Given the description of an element on the screen output the (x, y) to click on. 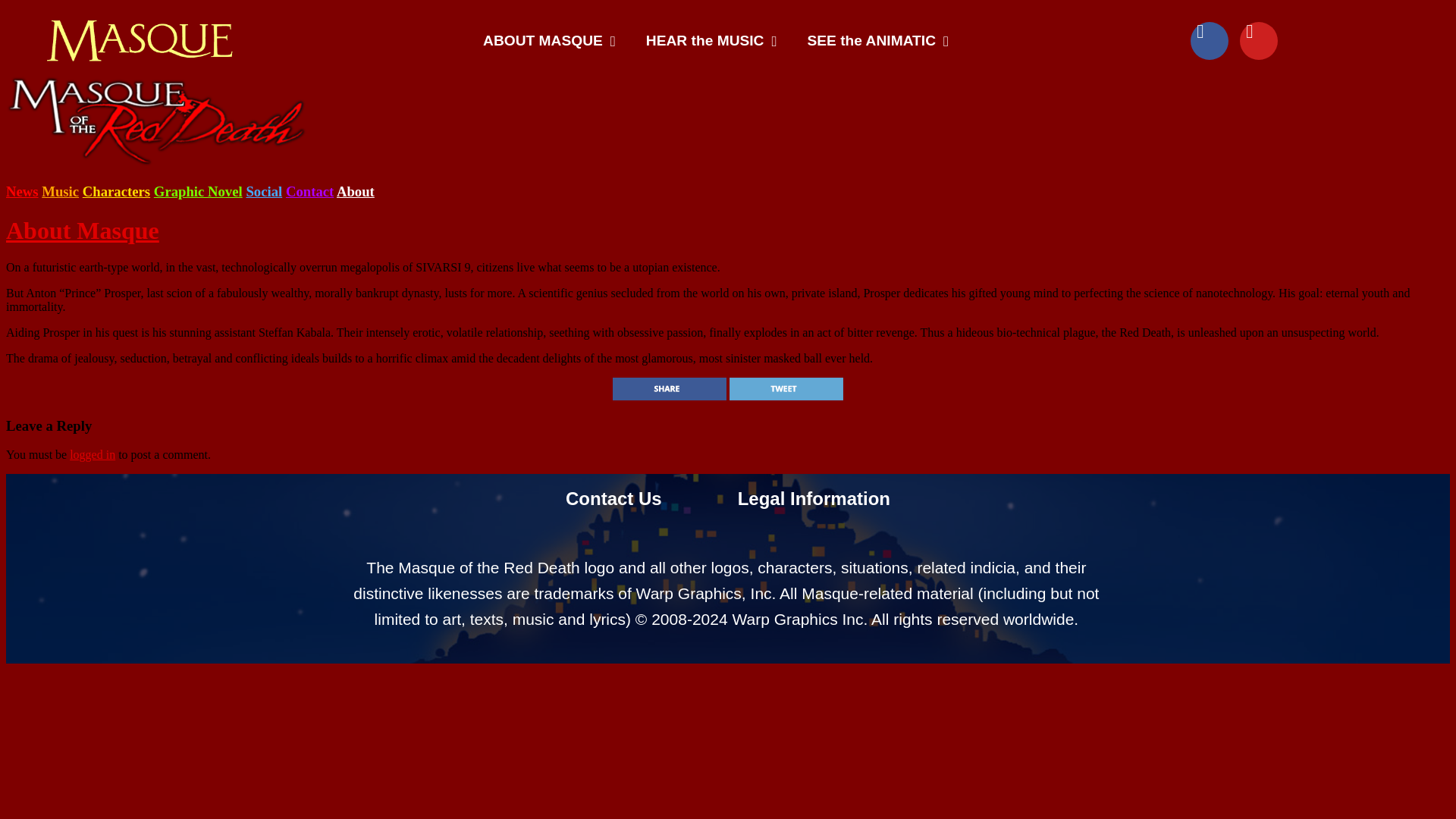
Characters (115, 191)
Music (60, 191)
News (22, 191)
SEE the ANIMATIC (877, 40)
ABOUT MASQUE (548, 40)
HEAR the MUSIC (711, 40)
Social (264, 191)
About Masque (81, 230)
About (355, 191)
Contact (309, 191)
Graphic Novel (198, 191)
logged in (92, 454)
